Given the description of an element on the screen output the (x, y) to click on. 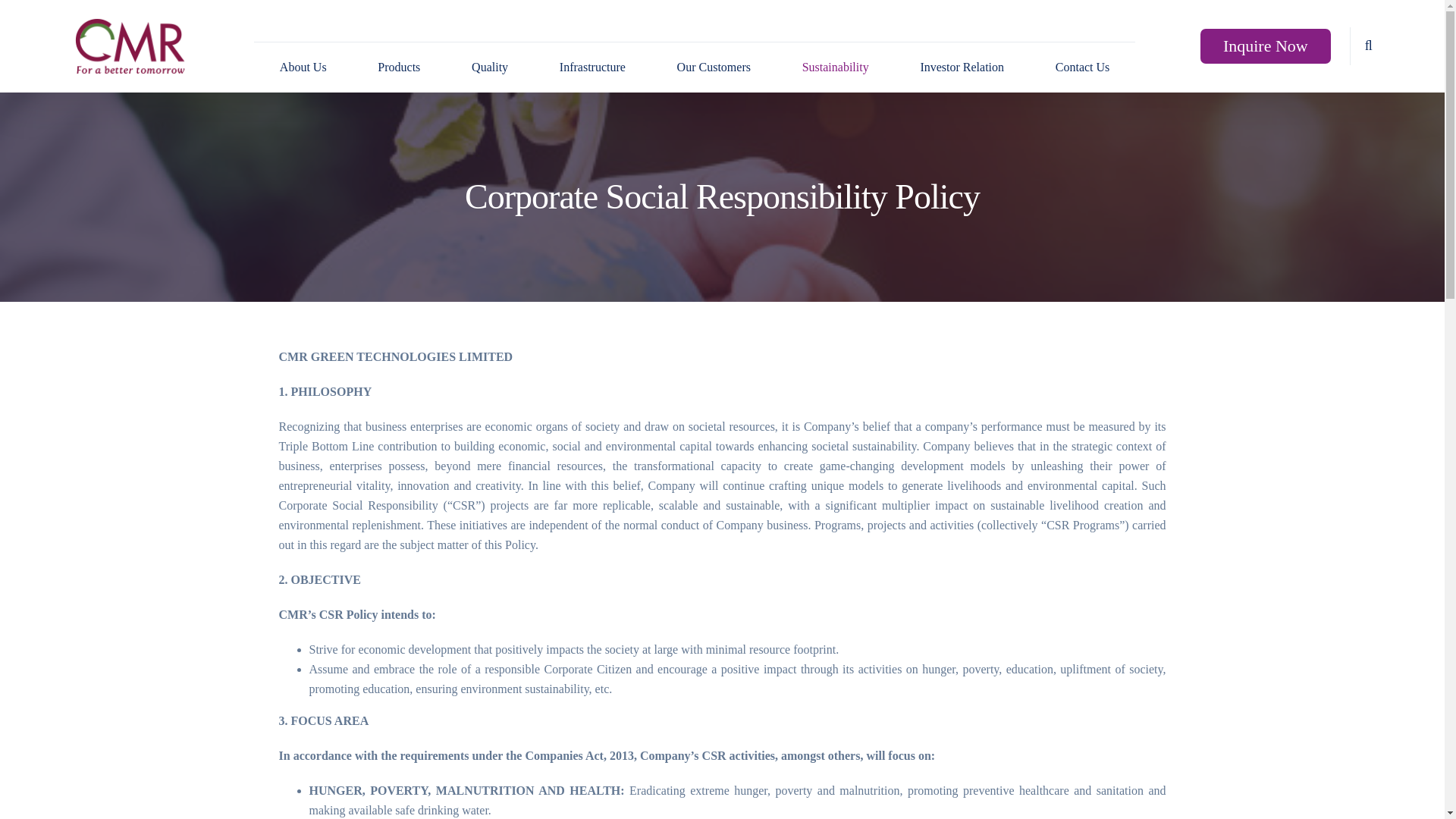
Our Customers (713, 67)
Quality (489, 67)
About Us (302, 67)
Products (398, 67)
Creating Recycling Value (130, 46)
Infrastructure (592, 67)
Sustainability (835, 67)
Investor Relation (962, 67)
